Given the description of an element on the screen output the (x, y) to click on. 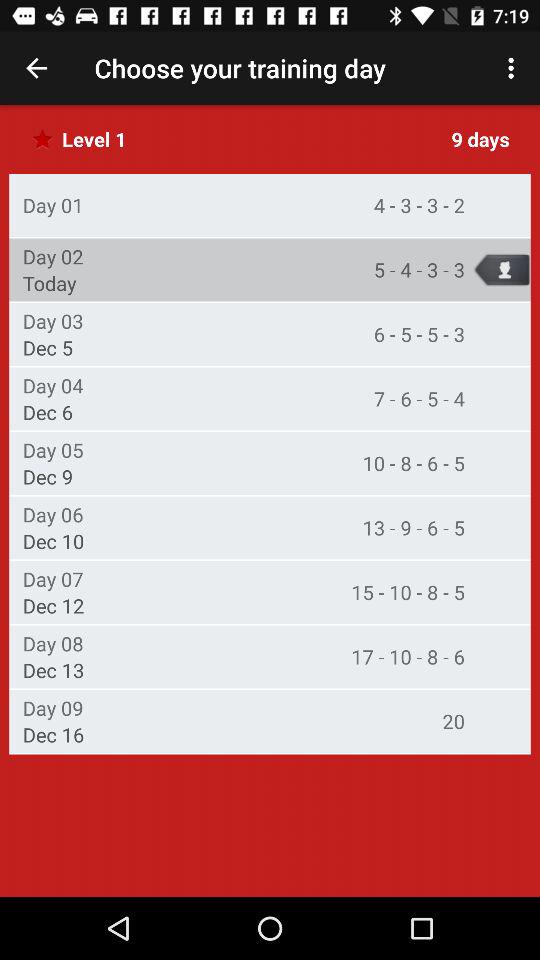
press the day 06 (52, 514)
